Given the description of an element on the screen output the (x, y) to click on. 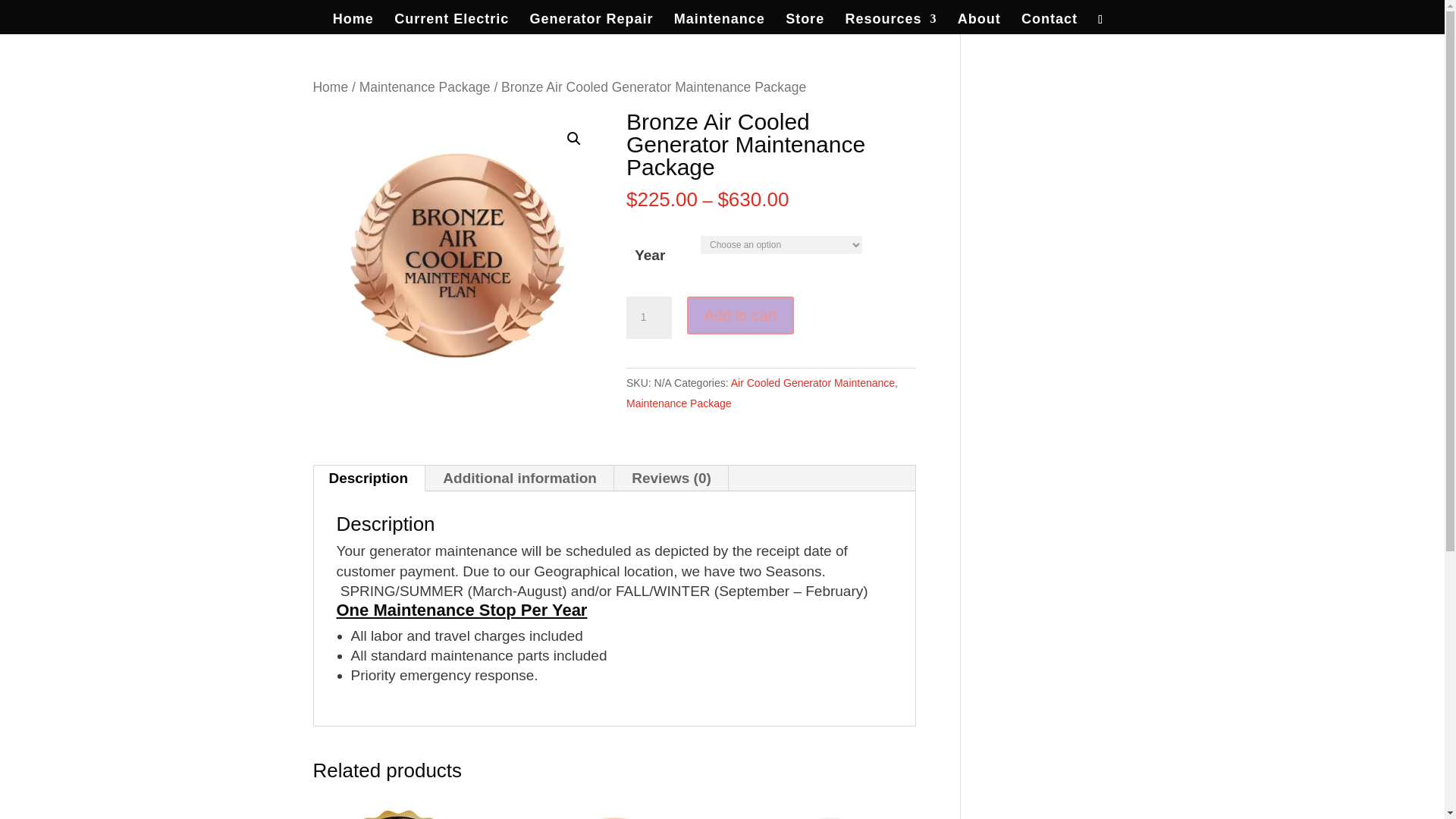
Generator Repair (590, 23)
Resources (890, 23)
Home (330, 87)
Contact (1049, 23)
Add to cart (740, 315)
Store (805, 23)
Description (369, 478)
Maintenance (719, 23)
About (979, 23)
Maintenance Package (424, 87)
Current Electric (451, 23)
1 (648, 317)
Home (353, 23)
Maintenance Package (679, 403)
Gold-Air-Cooled-4 (457, 255)
